Given the description of an element on the screen output the (x, y) to click on. 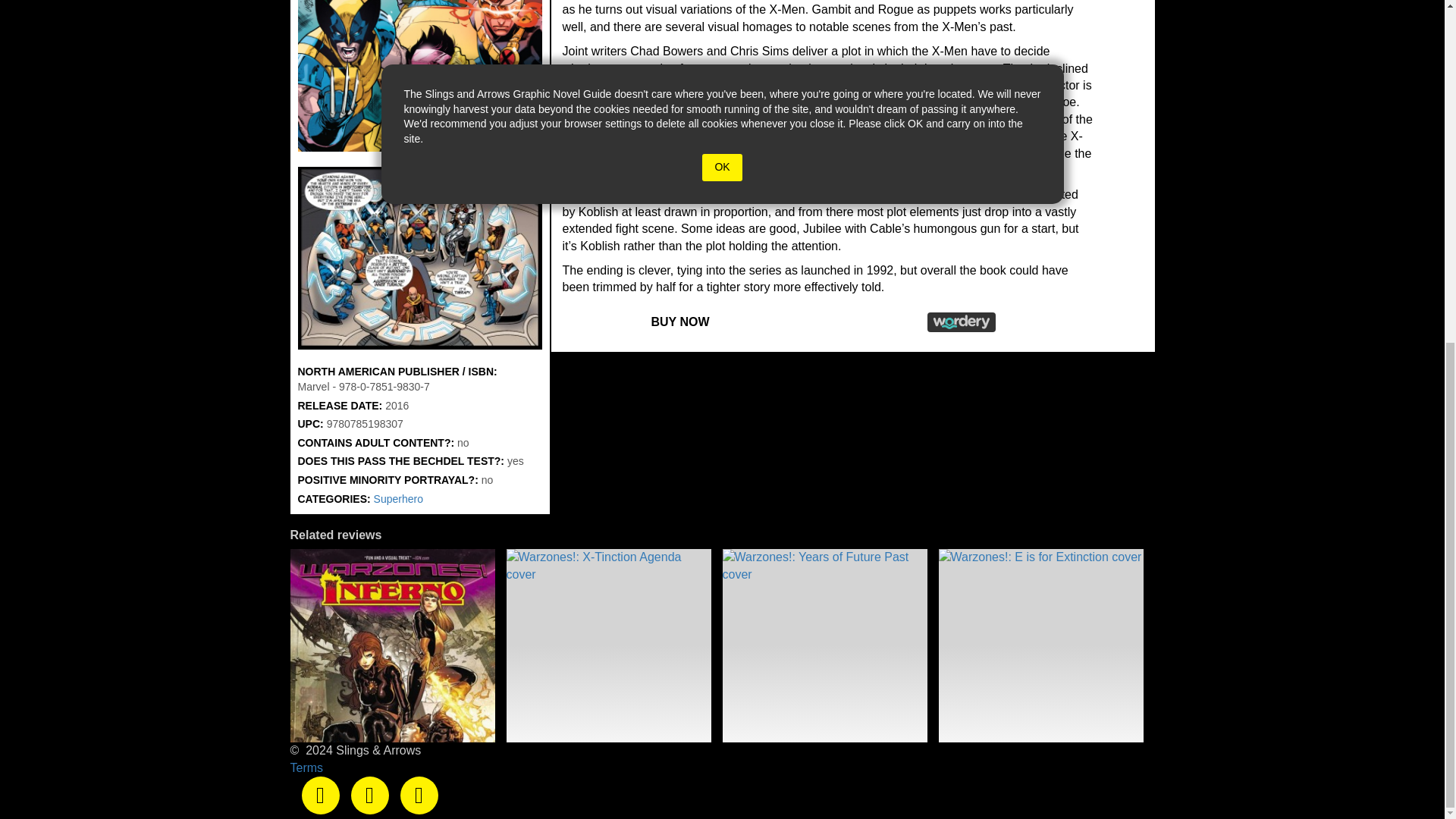
SAMPLE IMAGE  (419, 258)
OK (721, 166)
Superhero (398, 499)
